Given the description of an element on the screen output the (x, y) to click on. 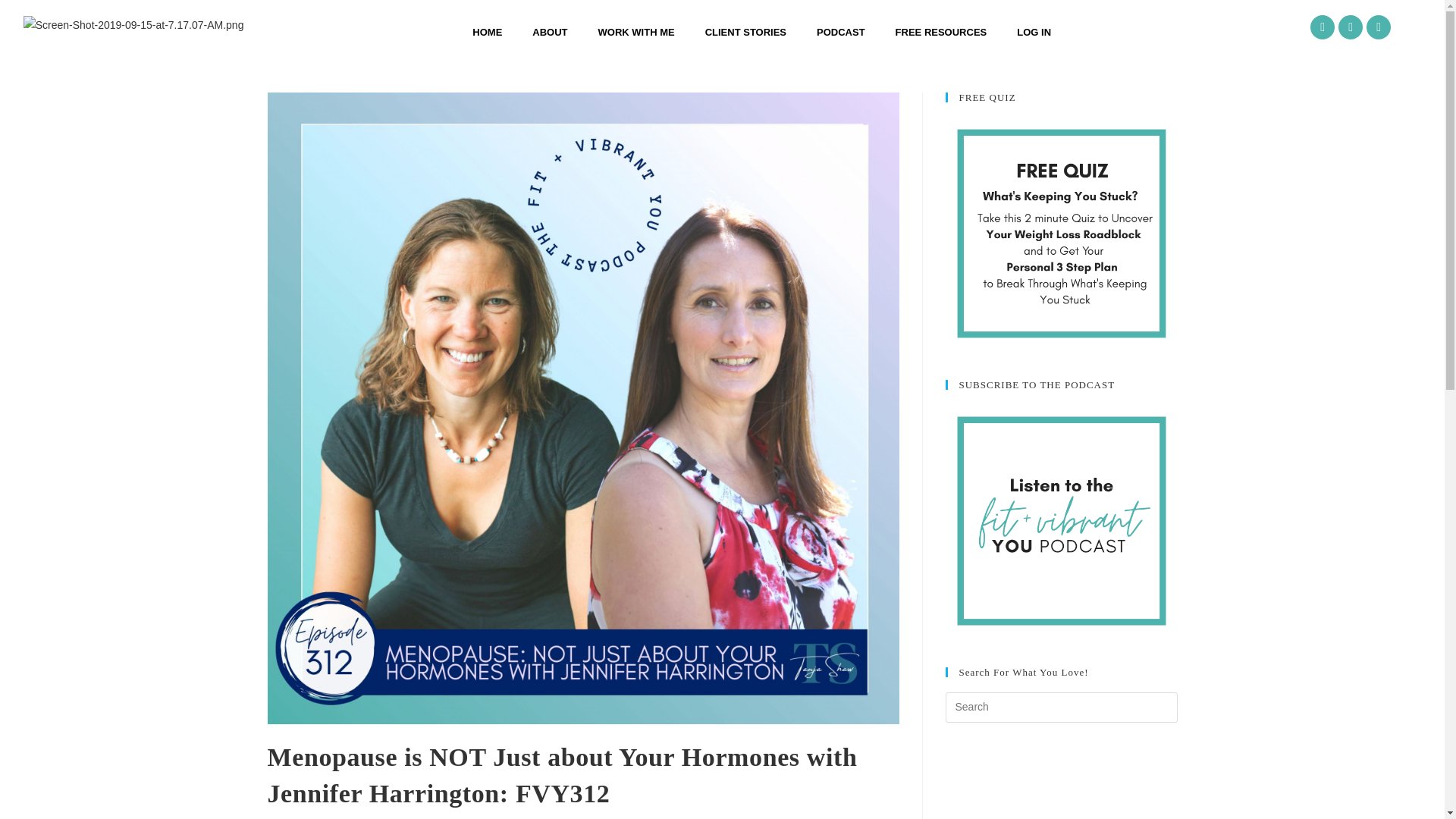
HOME (486, 32)
CLIENT STORIES (746, 32)
WORK WITH ME (636, 32)
Screen-Shot-2019-09-15-at-7.17.07-AM.png (133, 25)
PODCAST (841, 32)
FREE RESOURCES (941, 32)
ABOUT (549, 32)
LOG IN (1033, 32)
